Given the description of an element on the screen output the (x, y) to click on. 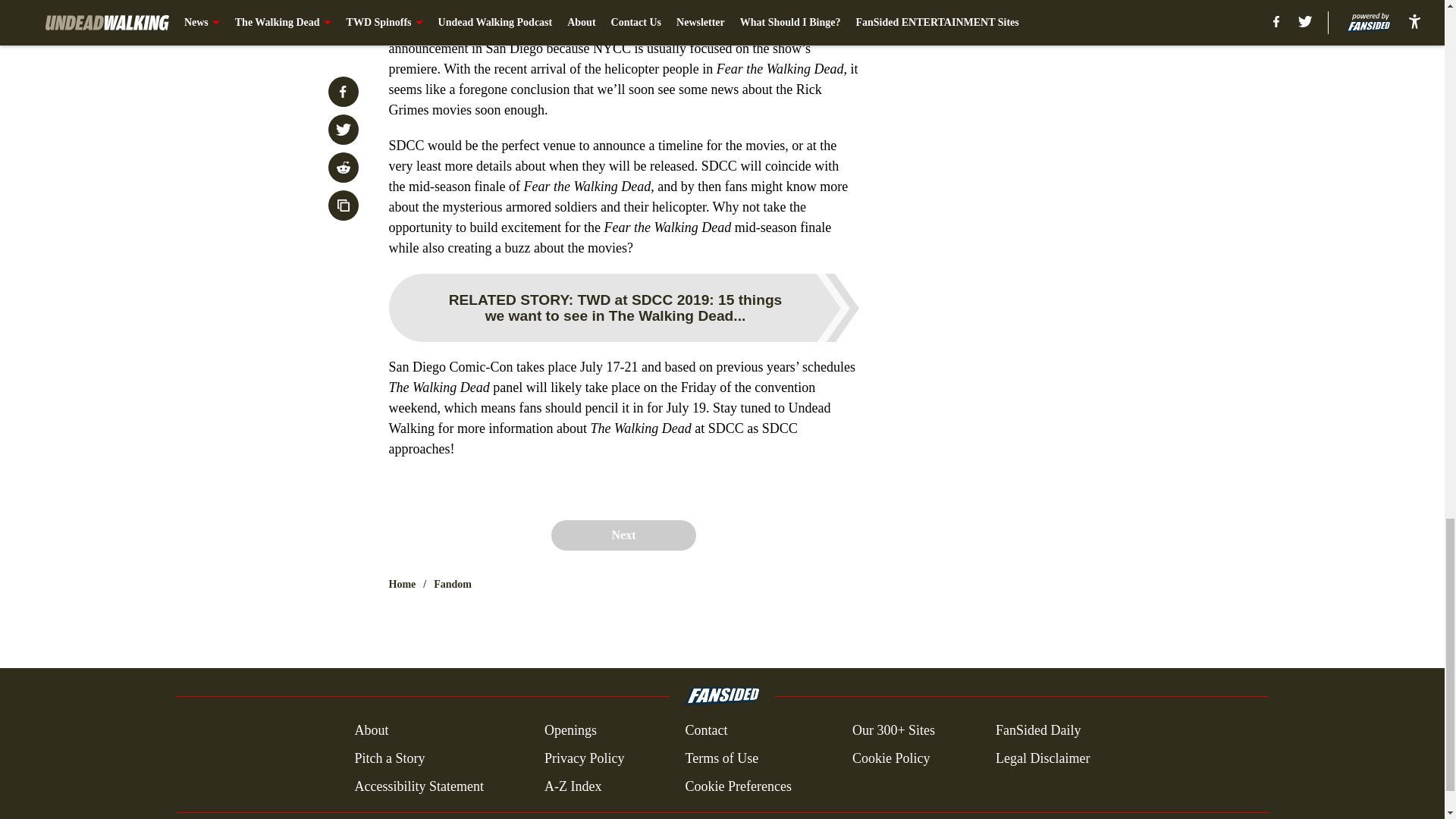
About (370, 730)
Home (401, 584)
Next (622, 535)
Fandom (452, 584)
